Given the description of an element on the screen output the (x, y) to click on. 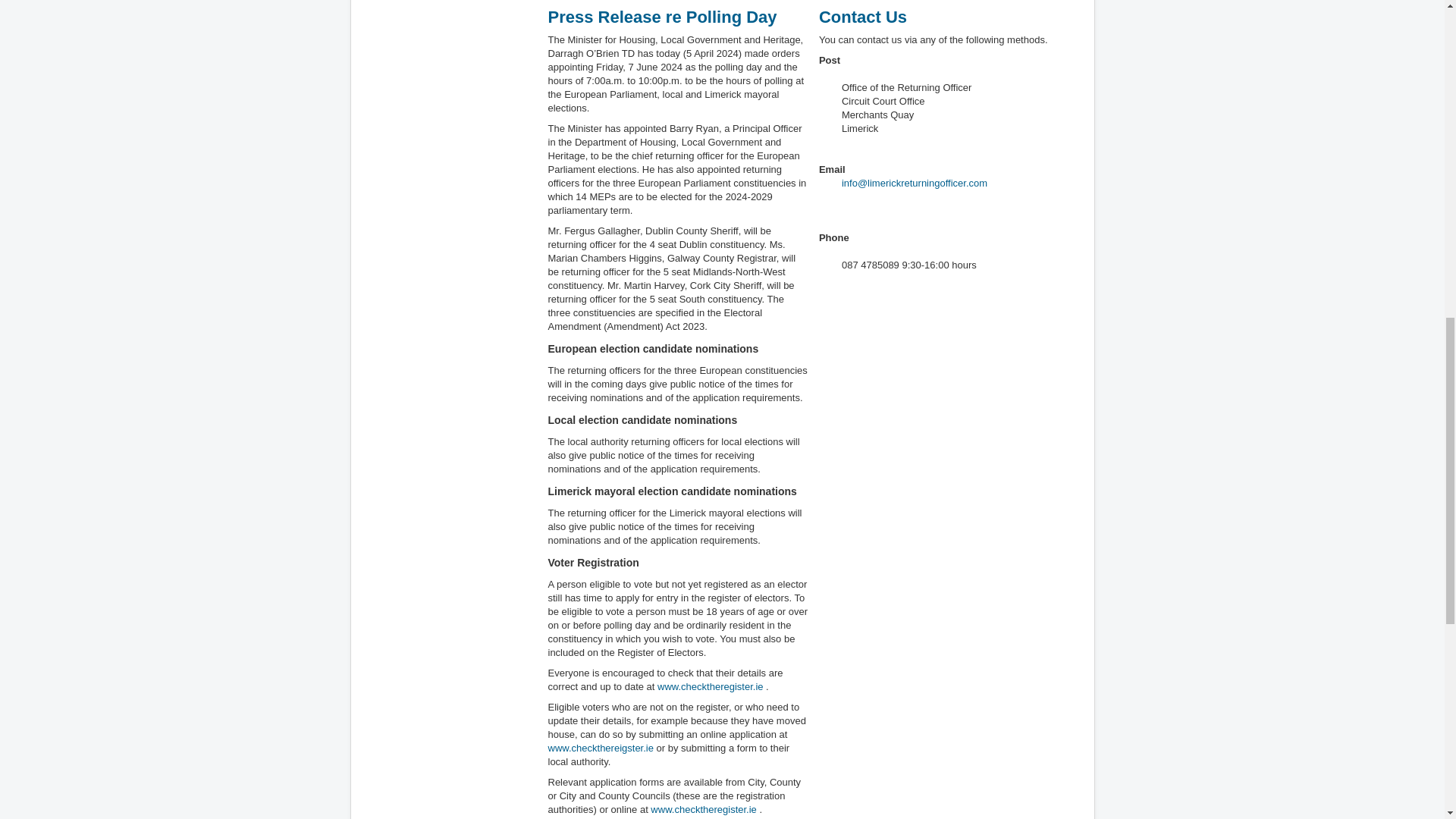
www.checktheregister.ie (702, 808)
www.checkthereigster.ie (599, 747)
www.checktheregister.ie (710, 686)
Contact Us (862, 16)
Press Release re Polling Day (661, 16)
